Given the description of an element on the screen output the (x, y) to click on. 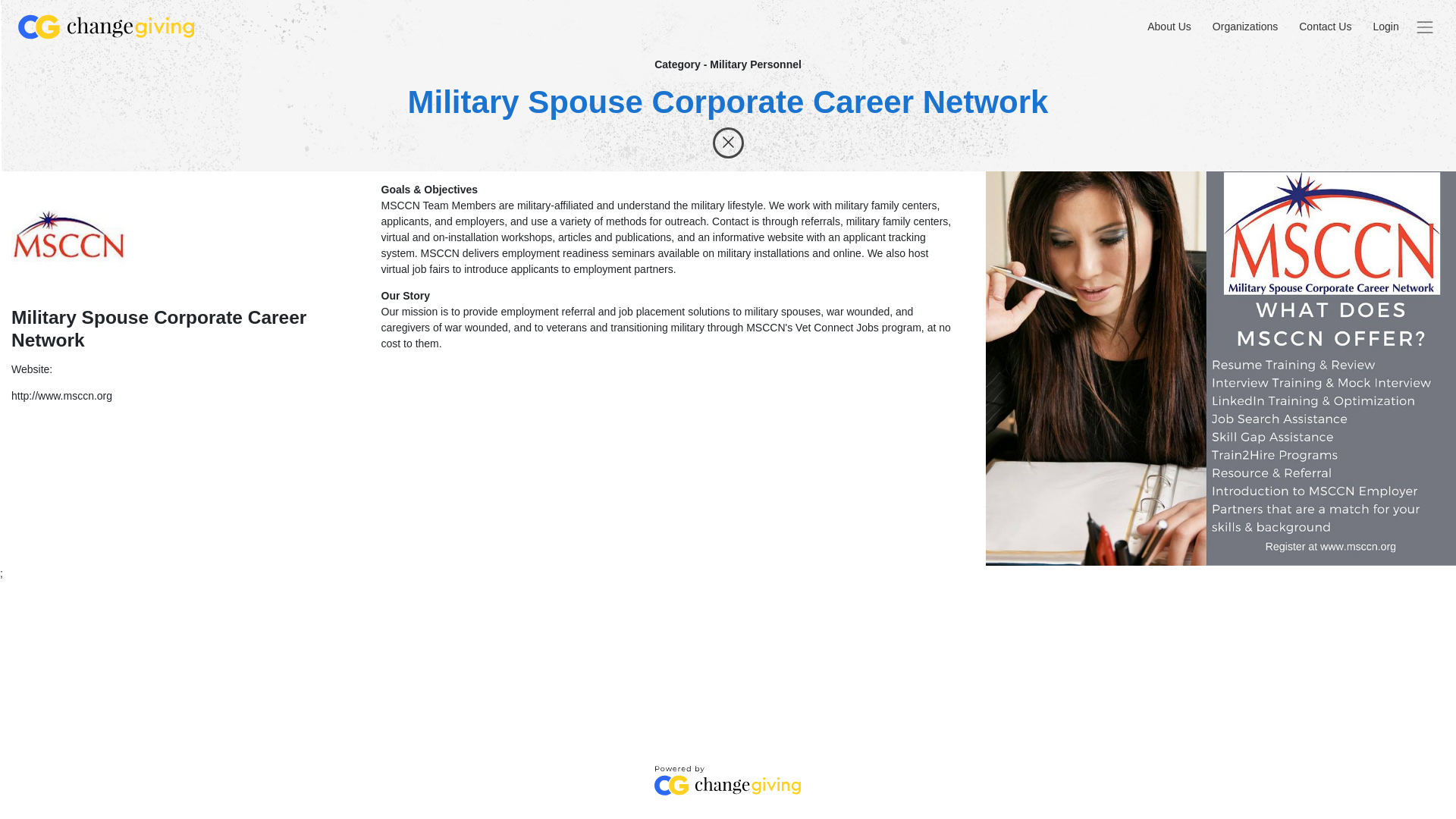
Contact Us (1325, 26)
Login (1385, 26)
Organizations (1244, 26)
About Us (1168, 26)
